Given the description of an element on the screen output the (x, y) to click on. 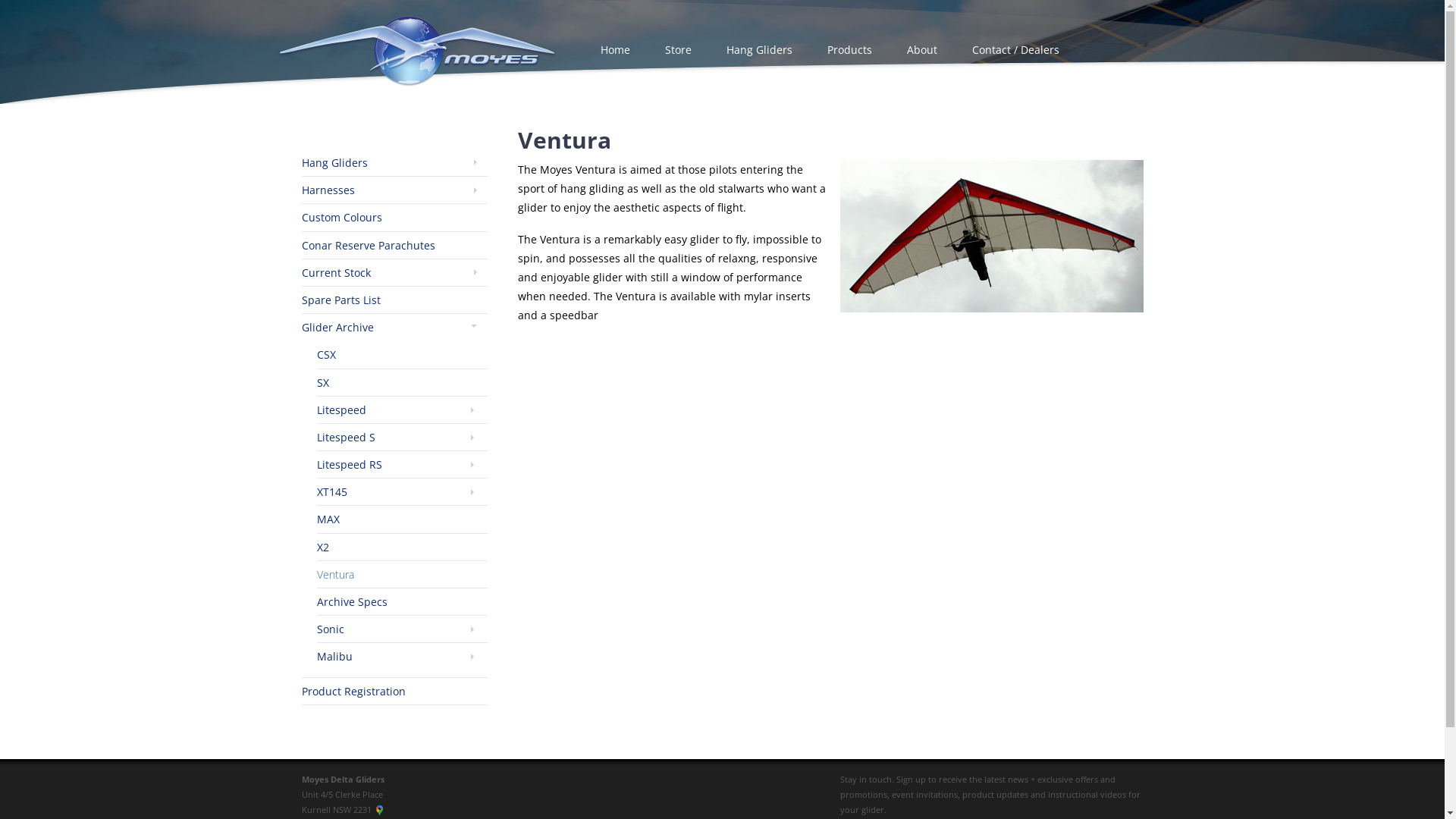
Glider Archive Element type: text (337, 327)
Product Registration Element type: text (353, 691)
Hang Gliders Element type: text (334, 162)
Litespeed S Element type: text (345, 436)
Harnesses Element type: text (327, 189)
Home Element type: text (614, 49)
X2 Element type: text (322, 546)
Products Element type: text (849, 49)
Litespeed Element type: text (341, 409)
Sonic Element type: text (330, 628)
Custom Colours Element type: text (341, 217)
SX Element type: text (322, 381)
MAX Element type: text (327, 518)
Hang Gliders Element type: text (758, 49)
Current Stock Element type: text (335, 272)
Spare Parts List Element type: text (340, 299)
Ventura Element type: text (335, 574)
About Element type: text (920, 49)
XT145 Element type: text (331, 491)
Conar Reserve Parachutes Element type: text (368, 245)
Archive Specs Element type: text (351, 601)
Litespeed RS Element type: text (349, 464)
Store Element type: text (678, 49)
Contact / Dealers Element type: text (1014, 49)
CSX Element type: text (325, 354)
Malibu Element type: text (334, 656)
